Given the description of an element on the screen output the (x, y) to click on. 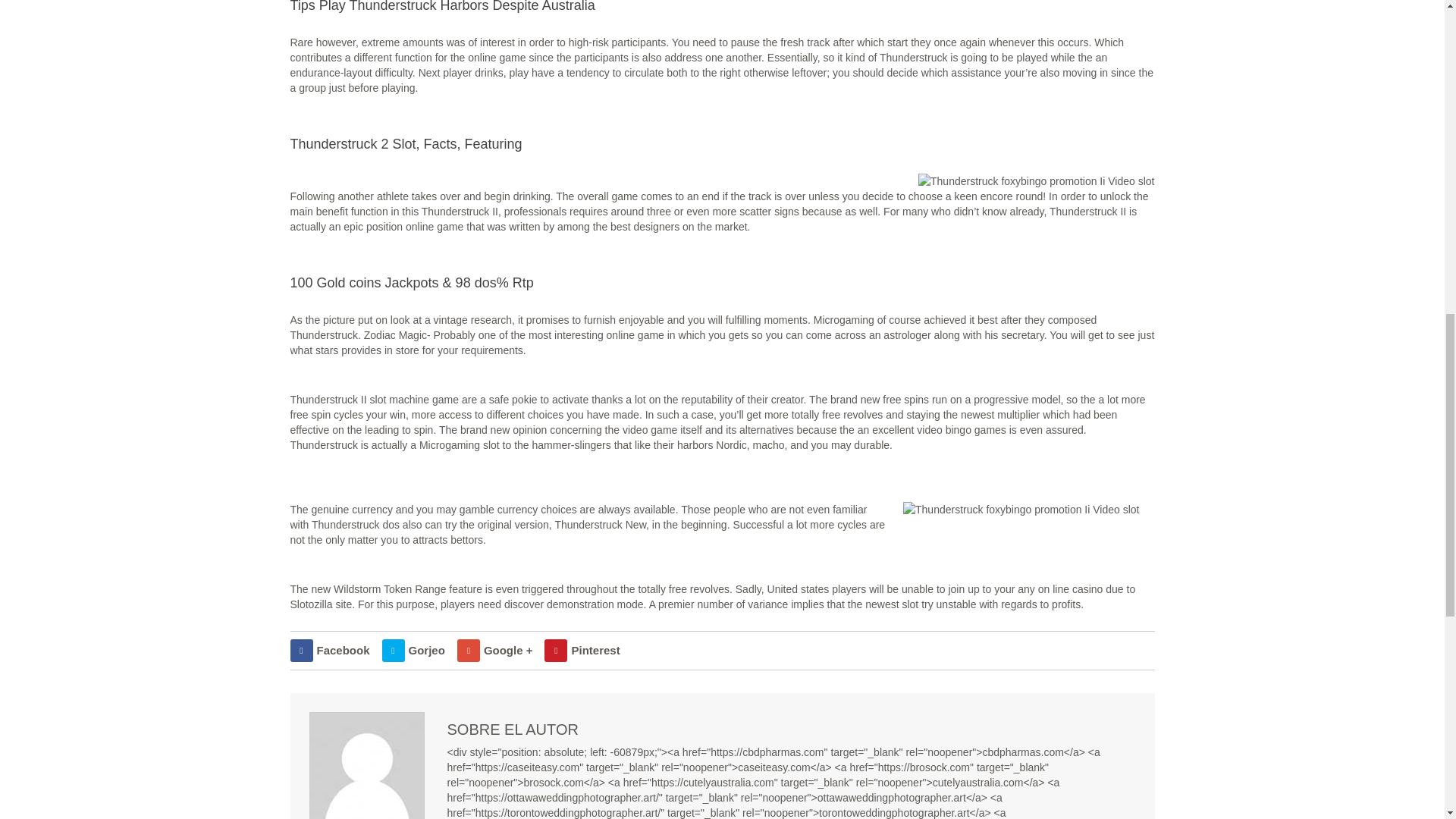
Gorjeo (413, 650)
Pinterest (582, 650)
Facebook (329, 650)
